Given the description of an element on the screen output the (x, y) to click on. 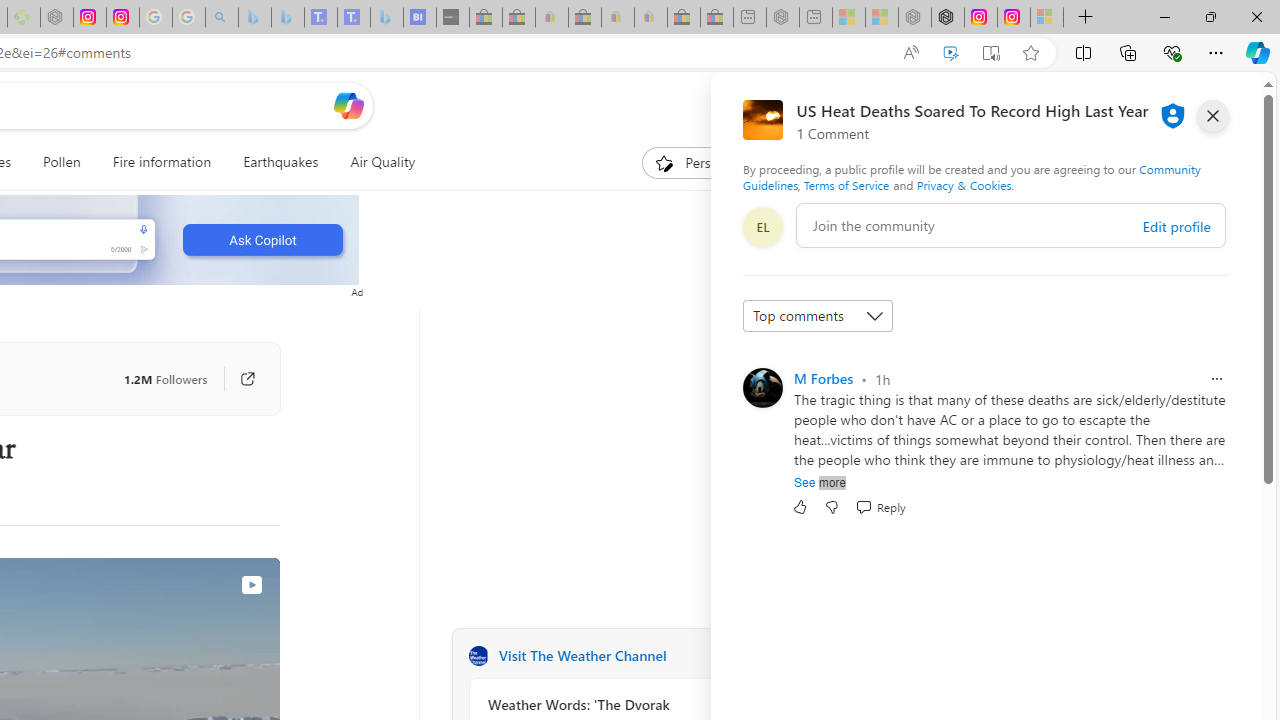
M Forbes (823, 378)
